Given the description of an element on the screen output the (x, y) to click on. 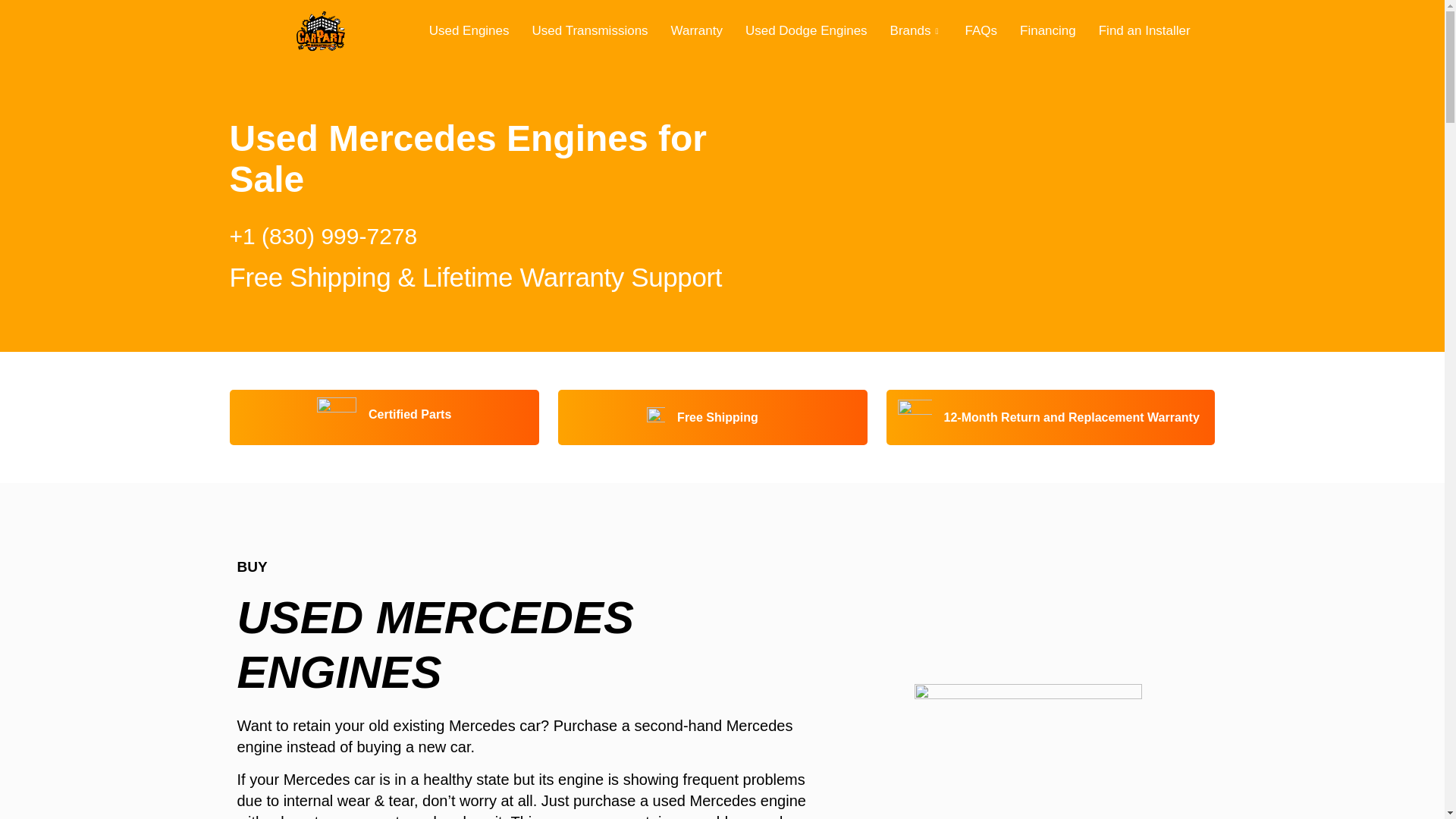
Used Dodge Engines (806, 30)
Find an Installer (1144, 30)
FAQs (981, 30)
Used Transmissions (590, 30)
Used Engines (469, 30)
Brands (916, 30)
Financing (1048, 30)
Warranty (696, 30)
